Given the description of an element on the screen output the (x, y) to click on. 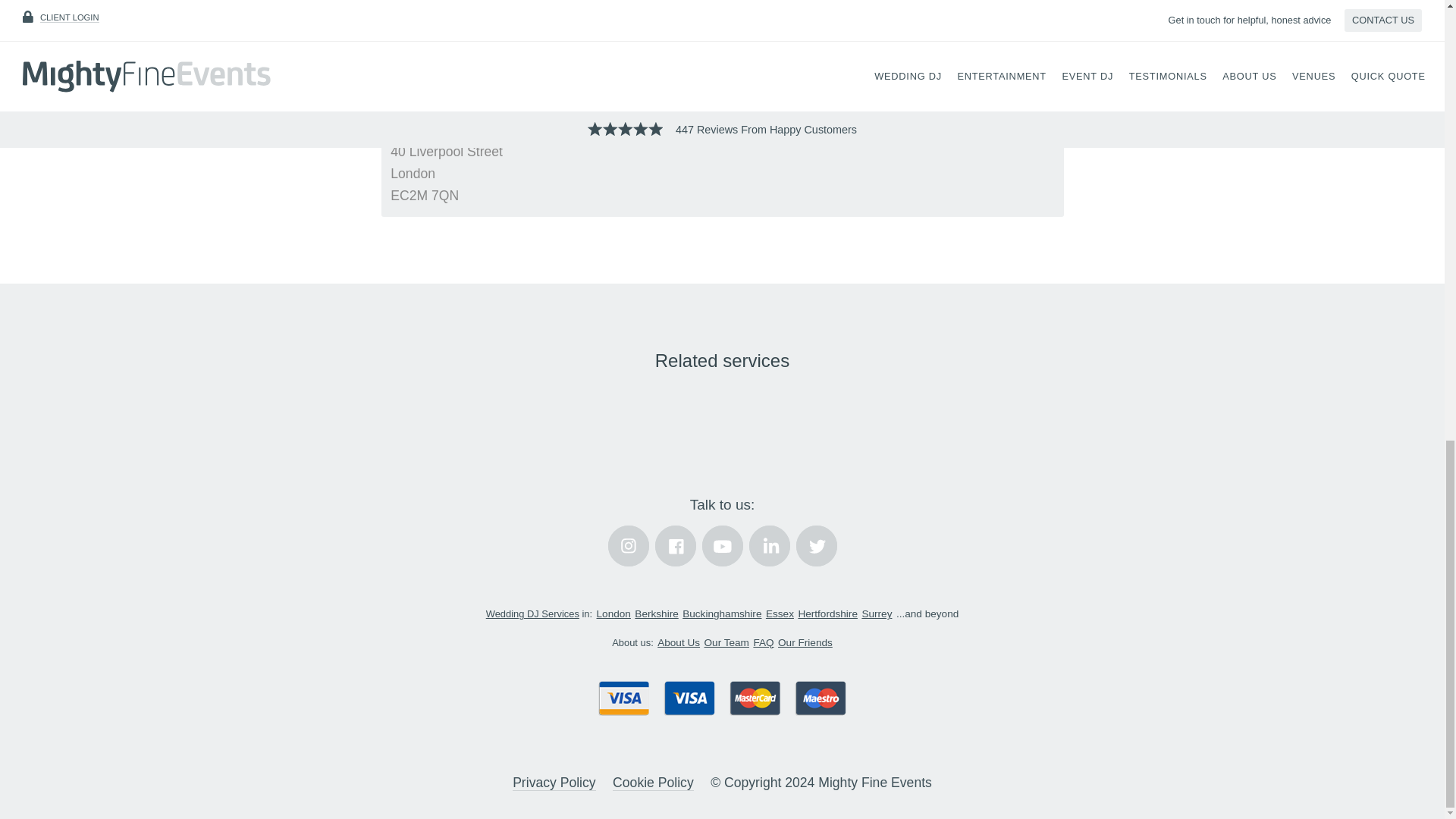
Berkshire (656, 613)
MightyFine.events on Linkedin (769, 545)
Hertfordshire (827, 613)
FAQ (762, 642)
London (613, 613)
Buckinghamshire (721, 613)
MightyFine.events on Facebook (675, 545)
About Us (679, 642)
Surrey (876, 613)
Our Friends (804, 642)
Wedding DJ Services (532, 613)
Cookie Policy (653, 782)
Our Team (726, 642)
MightyFine.events on Instagram (628, 545)
MightyFine.events on YouTube (721, 545)
